Given the description of an element on the screen output the (x, y) to click on. 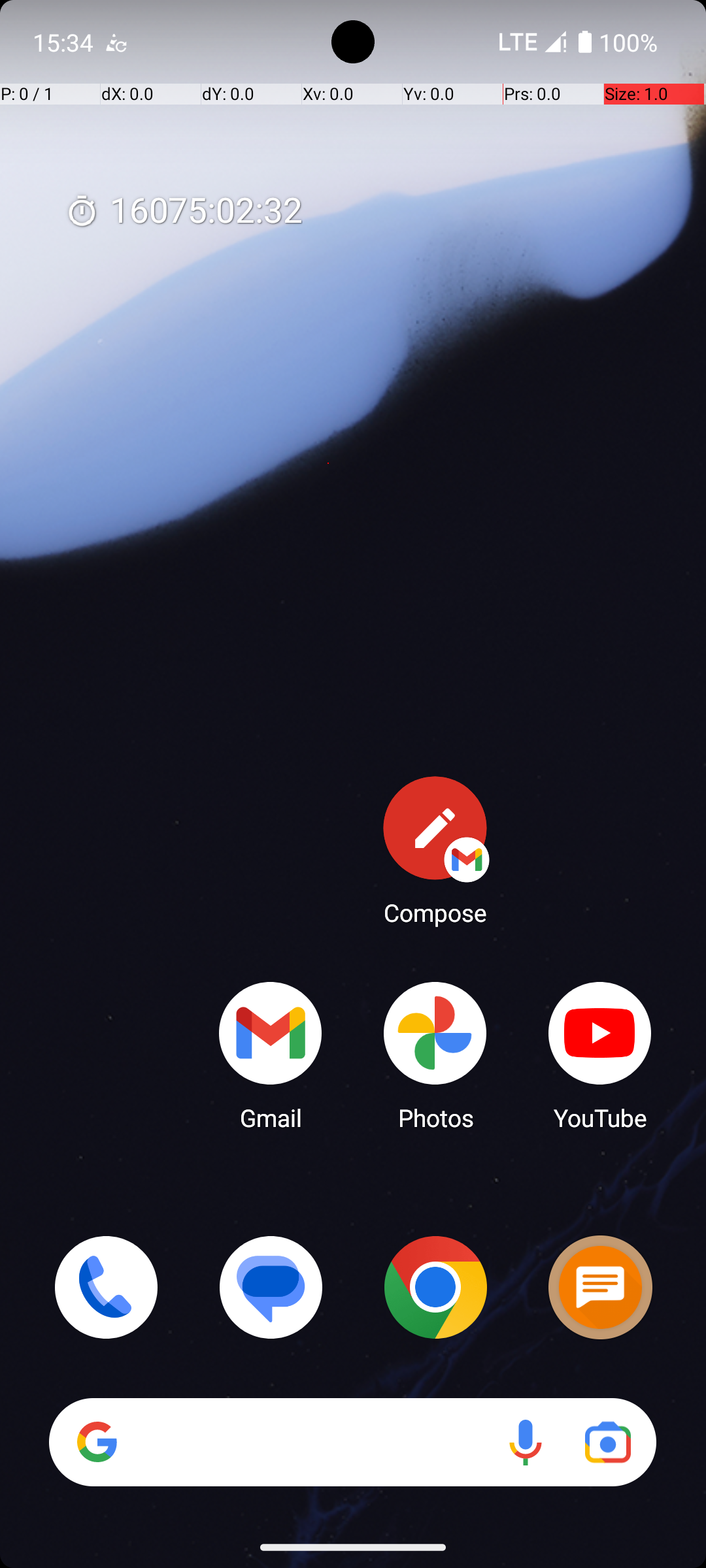
16075:02:32 Element type: android.widget.TextView (183, 210)
Compose Element type: android.widget.TextView (435, 849)
VLC notification: Scanning for media files Element type: android.widget.ImageView (115, 41)
